Given the description of an element on the screen output the (x, y) to click on. 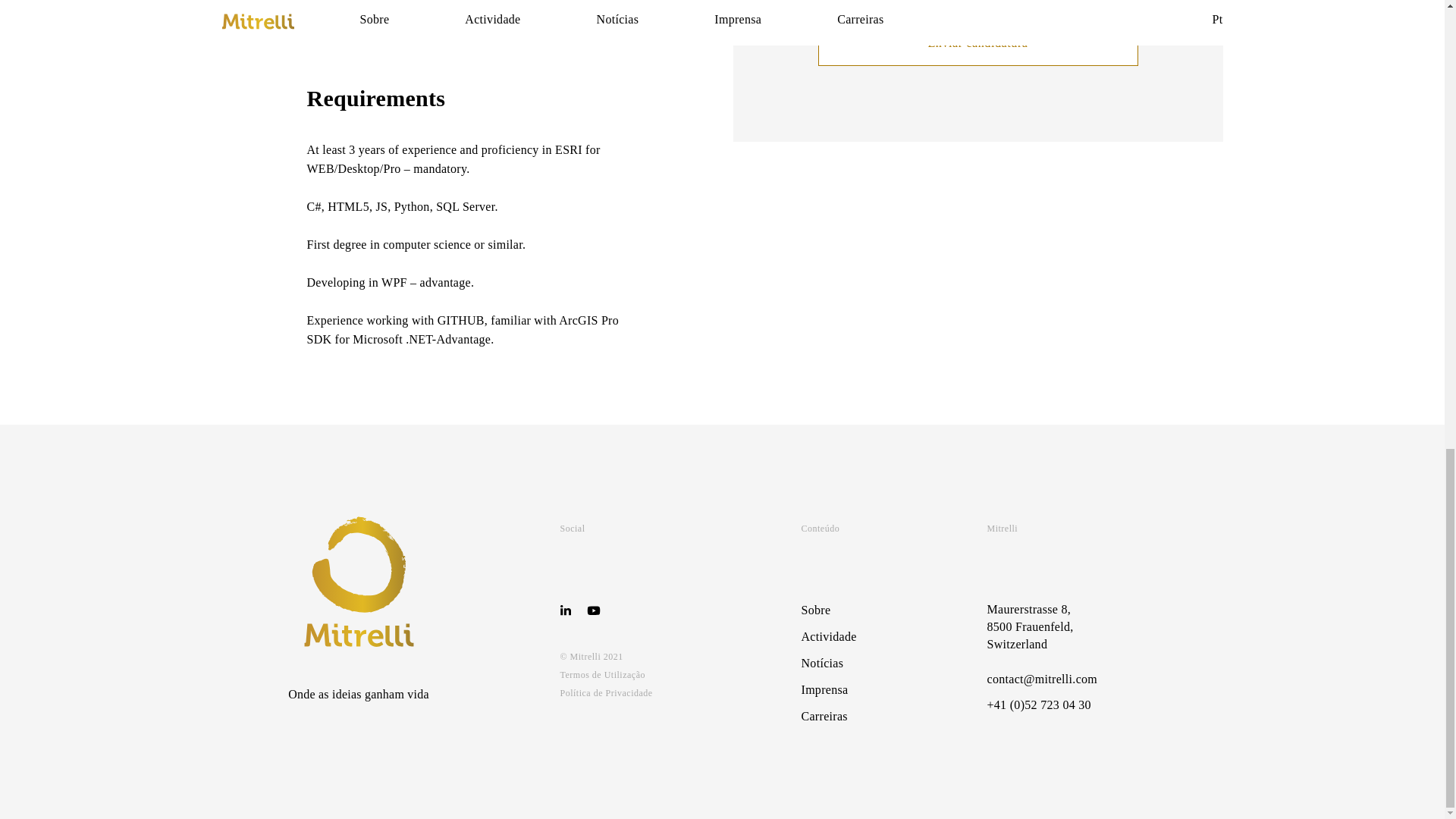
Sobre (814, 609)
Enviar candidatura (976, 43)
Enviar candidatura (976, 43)
Actividade (828, 635)
Imprensa (823, 689)
Carreiras (823, 716)
